Given the description of an element on the screen output the (x, y) to click on. 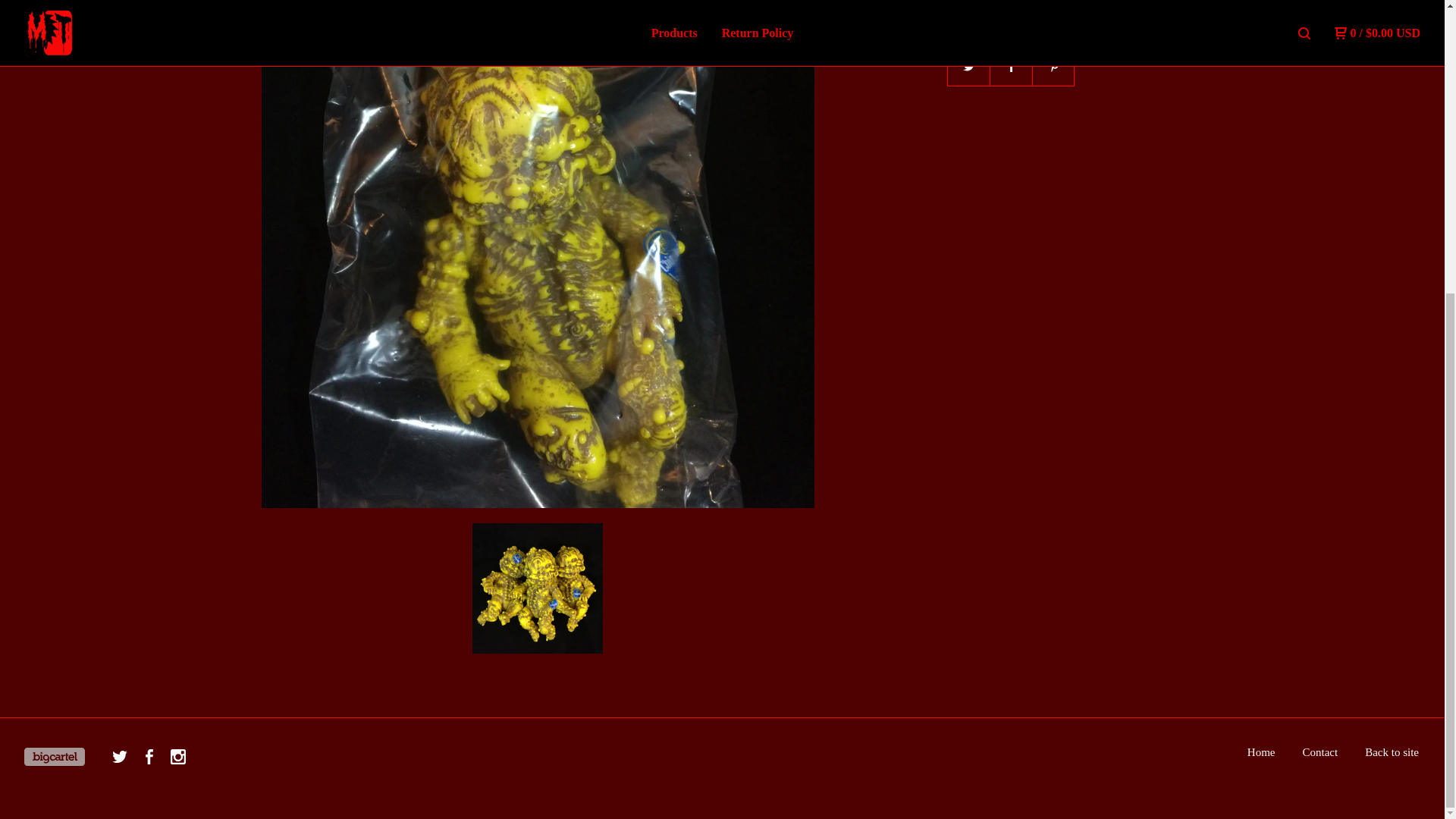
Instagram (178, 756)
Back to site (1391, 752)
Twitter (120, 756)
Pin (1053, 65)
Powered by Big Cartel (54, 756)
Share on Facebook (1011, 65)
Home (1261, 752)
Facebook (149, 756)
Share on Twitter (968, 65)
Contact (1320, 752)
